Given the description of an element on the screen output the (x, y) to click on. 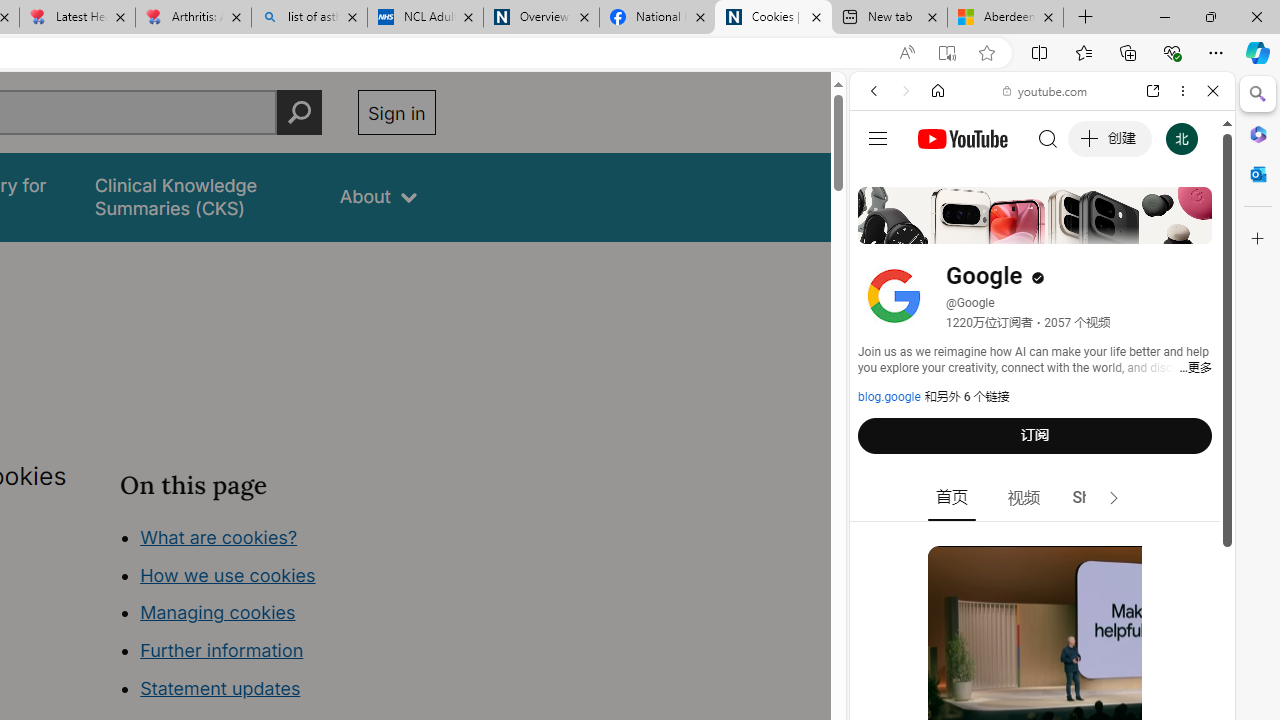
Class: b_serphb (1190, 229)
Search Filter, WEB (882, 228)
Show More Music (1164, 546)
Perform search (299, 112)
Search Filter, IMAGES (939, 228)
Arthritis: Ask Health Professionals (192, 17)
Search Filter, Search Tools (1093, 228)
